Given the description of an element on the screen output the (x, y) to click on. 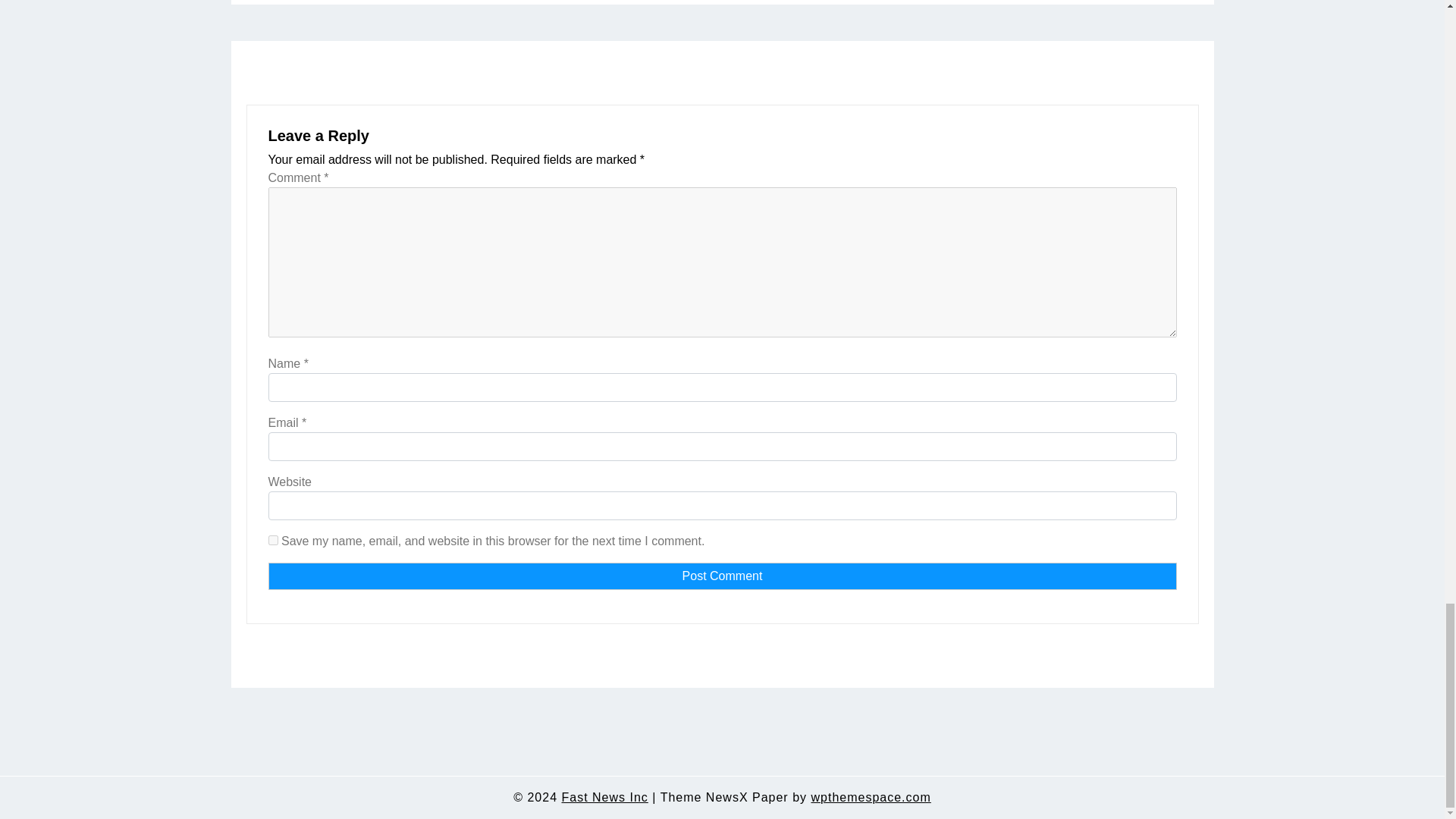
Fast News Inc (603, 797)
Post Comment (721, 575)
wpthemespace.com (870, 797)
Post Comment (721, 575)
yes (272, 540)
